Given the description of an element on the screen output the (x, y) to click on. 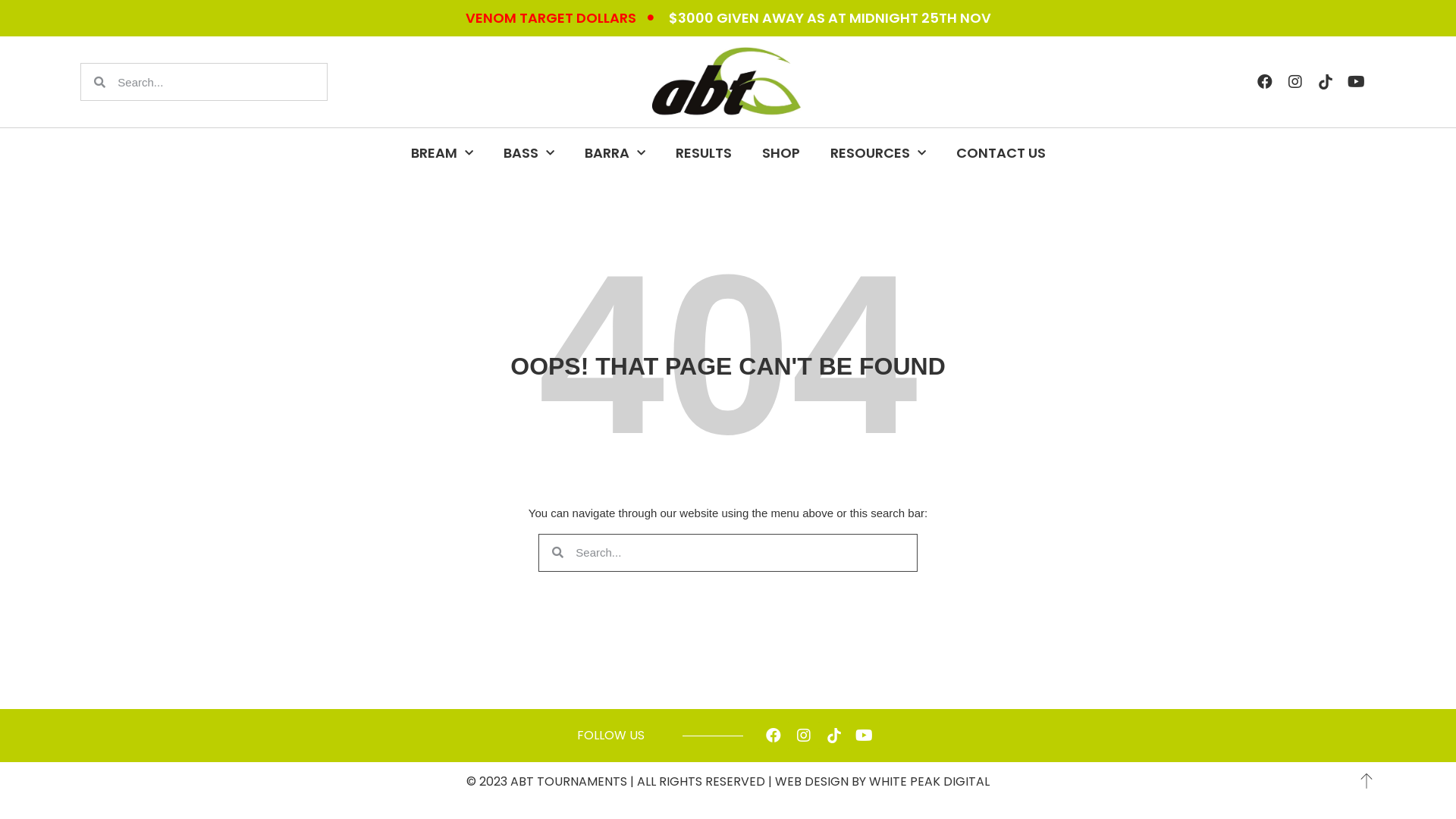
BARRA Element type: text (613, 152)
RESOURCES Element type: text (877, 152)
BREAM Element type: text (441, 152)
BASS Element type: text (528, 152)
SHOP Element type: text (780, 152)
CONTACT US Element type: text (1000, 152)
WEB DESIGN BY WHITE PEAK DIGITAL Element type: text (882, 781)
RESULTS Element type: text (702, 152)
